Given the description of an element on the screen output the (x, y) to click on. 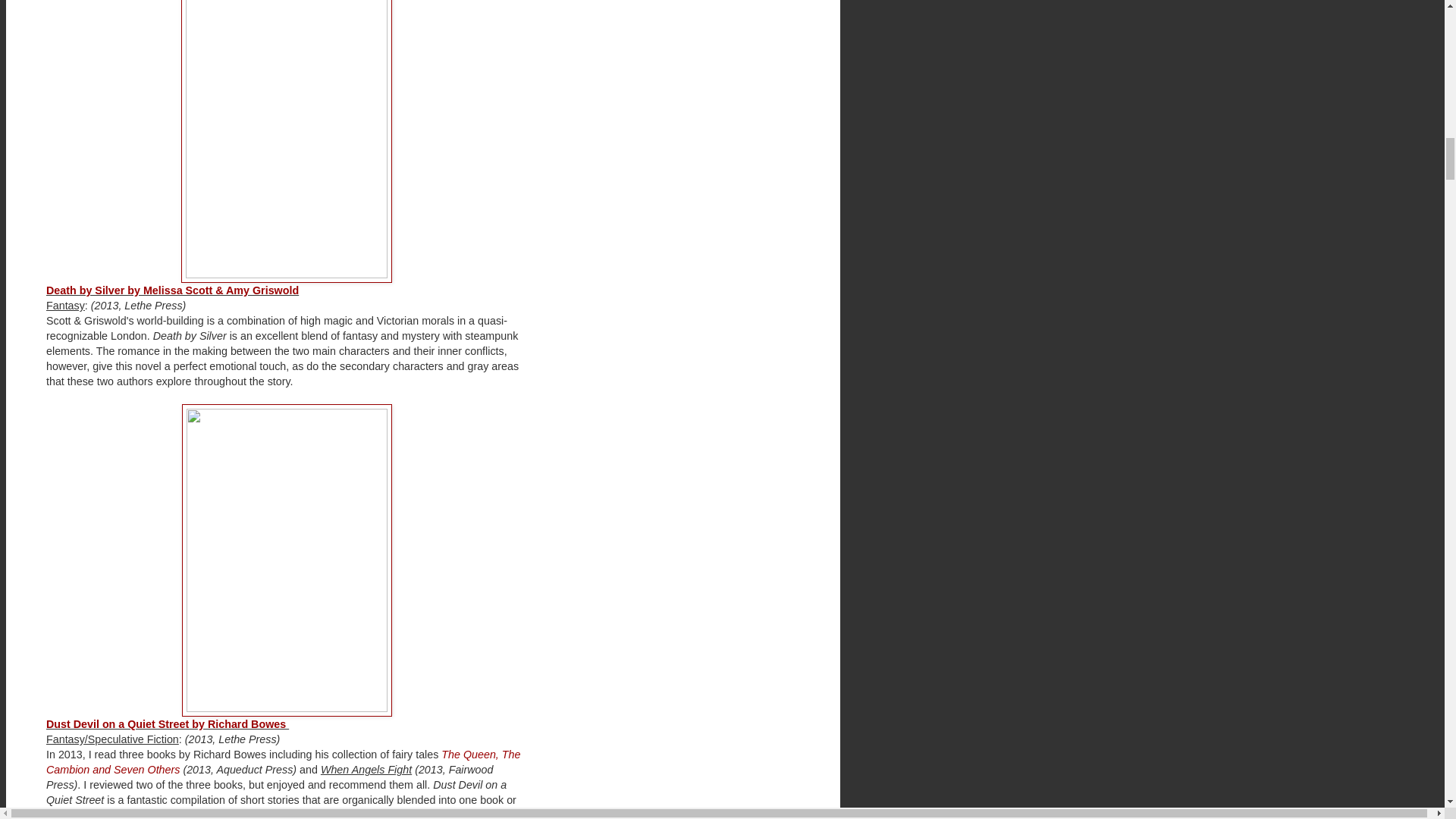
Dust Devil on a Quiet Street by Richard Bowes  (167, 724)
The Queen, The Cambion and Seven Others (282, 761)
